Given the description of an element on the screen output the (x, y) to click on. 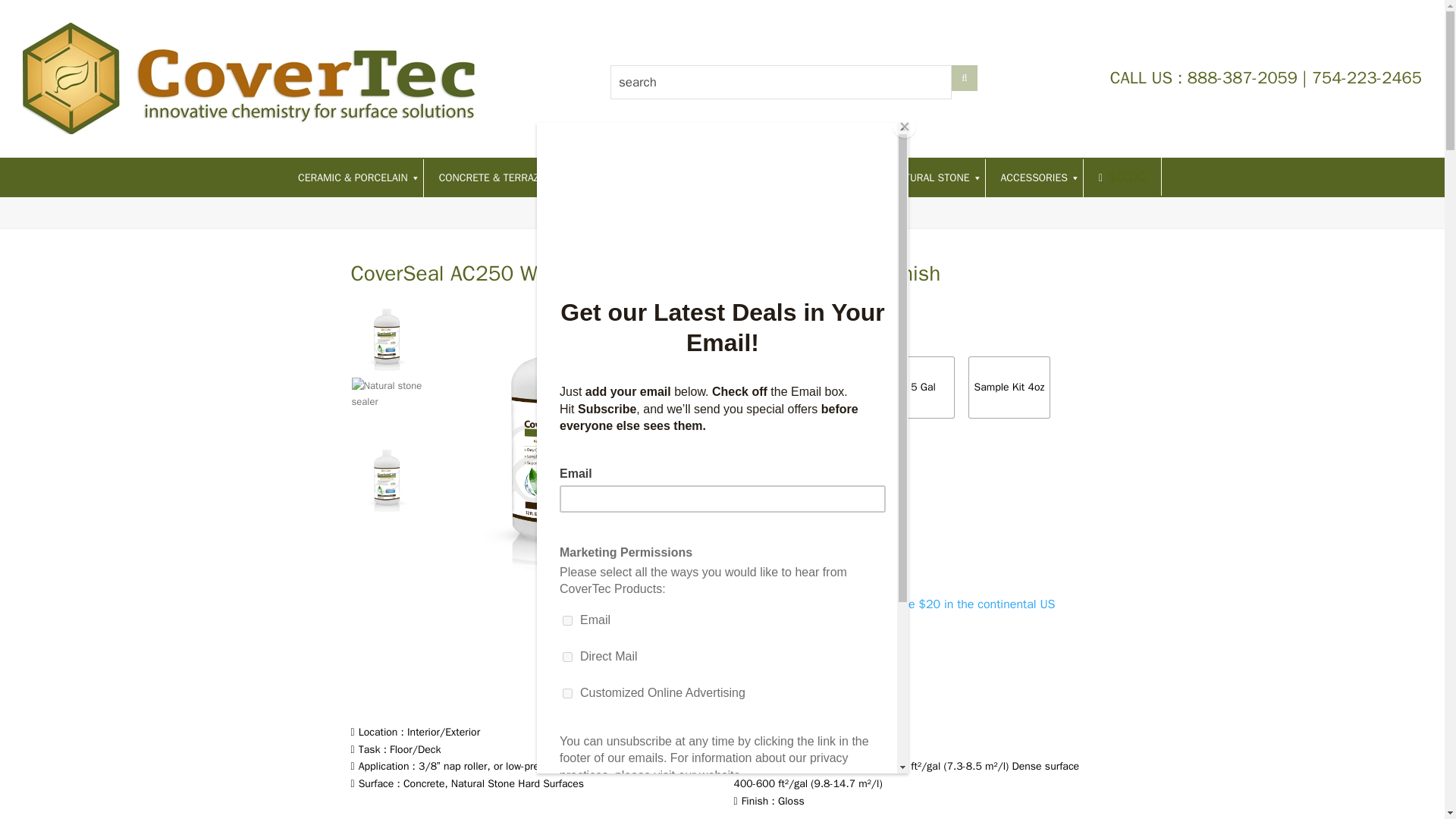
1 Qrt (771, 387)
1 (748, 511)
754-223-2465 (1366, 77)
ACCESSORIES (1034, 177)
Change Selection (783, 440)
Search (964, 77)
CoverSeal AC250 Gloss - 1Qrt (561, 435)
5 Gal (923, 387)
1 Gal (846, 387)
Sample Kit 4oz (1009, 387)
